Given the description of an element on the screen output the (x, y) to click on. 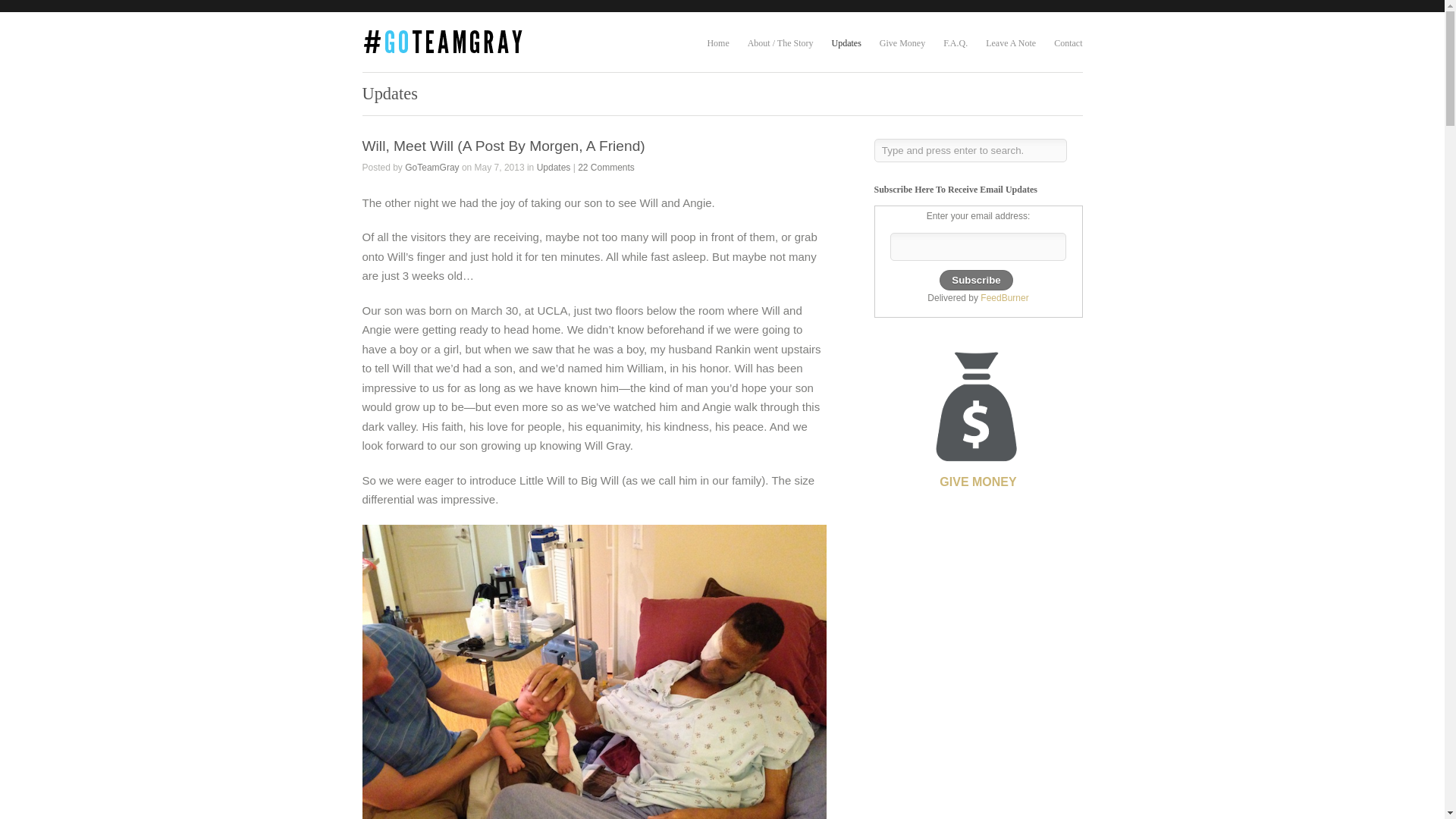
22 Comments (606, 167)
Posts by GoTeamGray (431, 167)
Give Money (977, 414)
GoTeamGray (431, 167)
Leave A Note (1010, 43)
Updates (553, 167)
Home (717, 43)
Subscribe (975, 280)
Contact (1067, 43)
Updates (845, 43)
Type and press enter to search. (969, 150)
Subscribe (975, 280)
F.A.Q. (955, 43)
Give Money (901, 43)
